Given the description of an element on the screen output the (x, y) to click on. 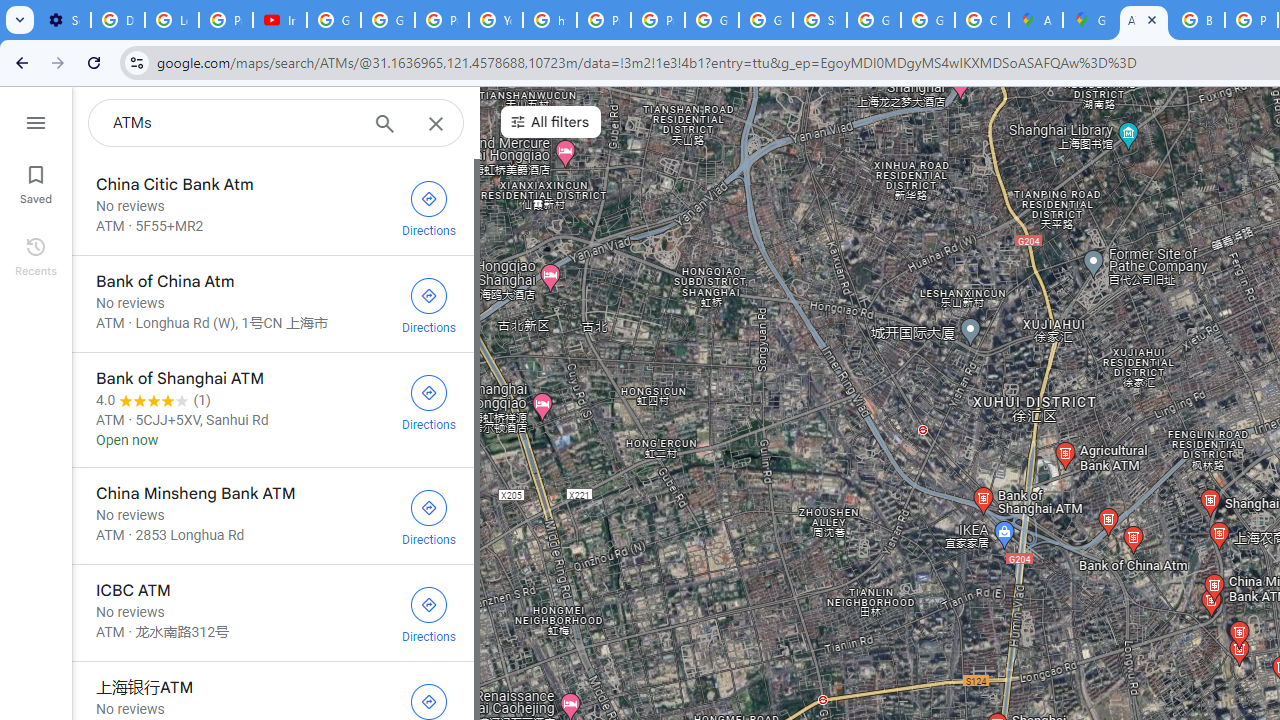
China Citic Bank Atm (272, 206)
All filters (550, 122)
Bank of Shanghai ATM (272, 409)
Get directions to Bank of China Atm (429, 304)
Saved (35, 182)
Get directions to China Minsheng Bank ATM (429, 515)
https://scholar.google.com/ (550, 20)
YouTube (495, 20)
